Given the description of an element on the screen output the (x, y) to click on. 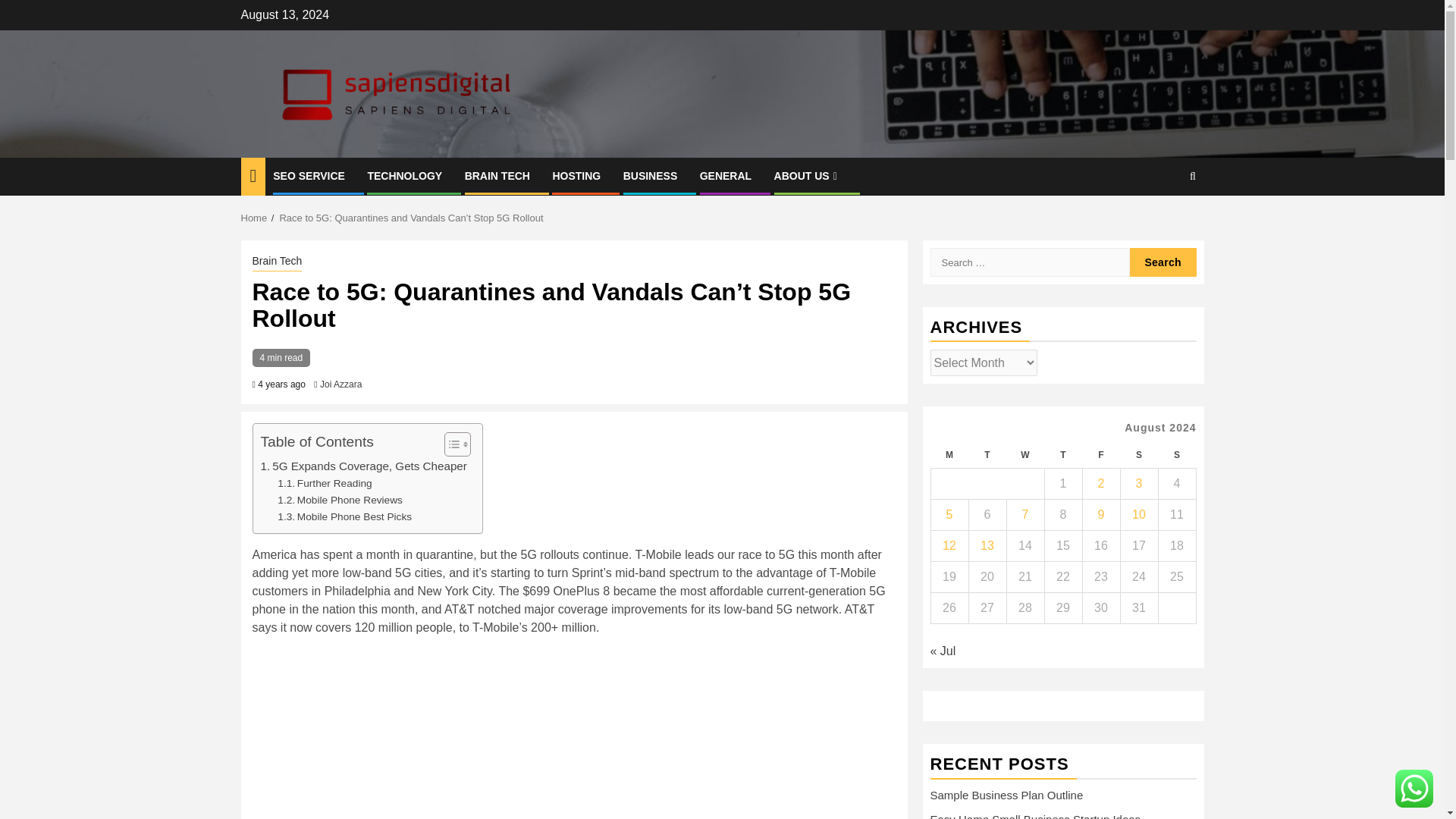
Tuesday (987, 455)
Mobile Phone Reviews (340, 500)
Search (1162, 262)
BRAIN TECH (496, 175)
Search (1162, 262)
Wednesday (1024, 455)
Further Reading (324, 483)
Brain Tech (276, 262)
BUSINESS (650, 175)
Thursday (1062, 455)
